Given the description of an element on the screen output the (x, y) to click on. 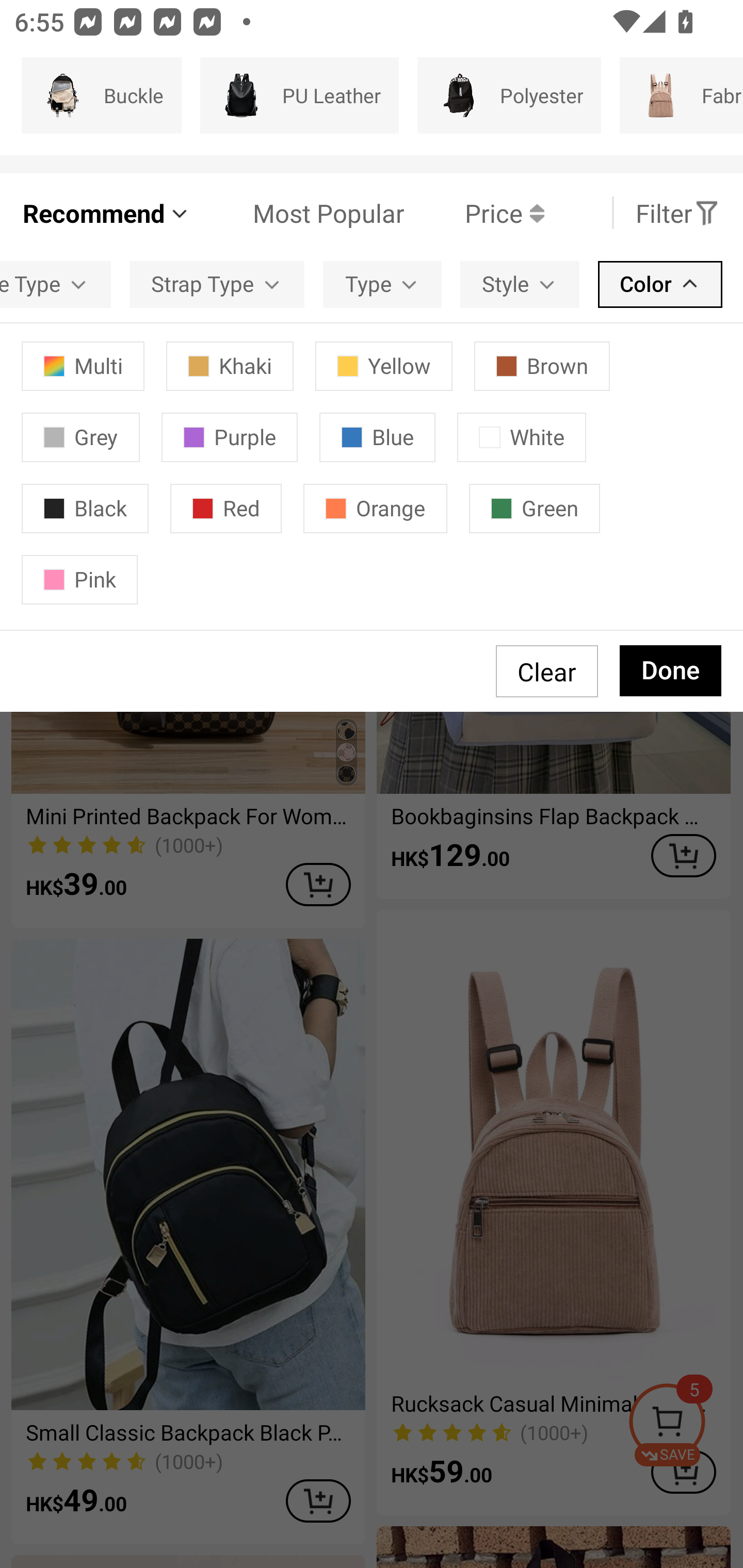
Buckle (101, 95)
PU Leather (298, 95)
Polyester (509, 95)
Fabric (681, 95)
Recommend (106, 213)
Most Popular (297, 213)
Price (474, 213)
Filter (677, 213)
Closure Type (55, 283)
Strap Type (216, 283)
Type (382, 283)
Style (519, 283)
Color (660, 283)
